Given the description of an element on the screen output the (x, y) to click on. 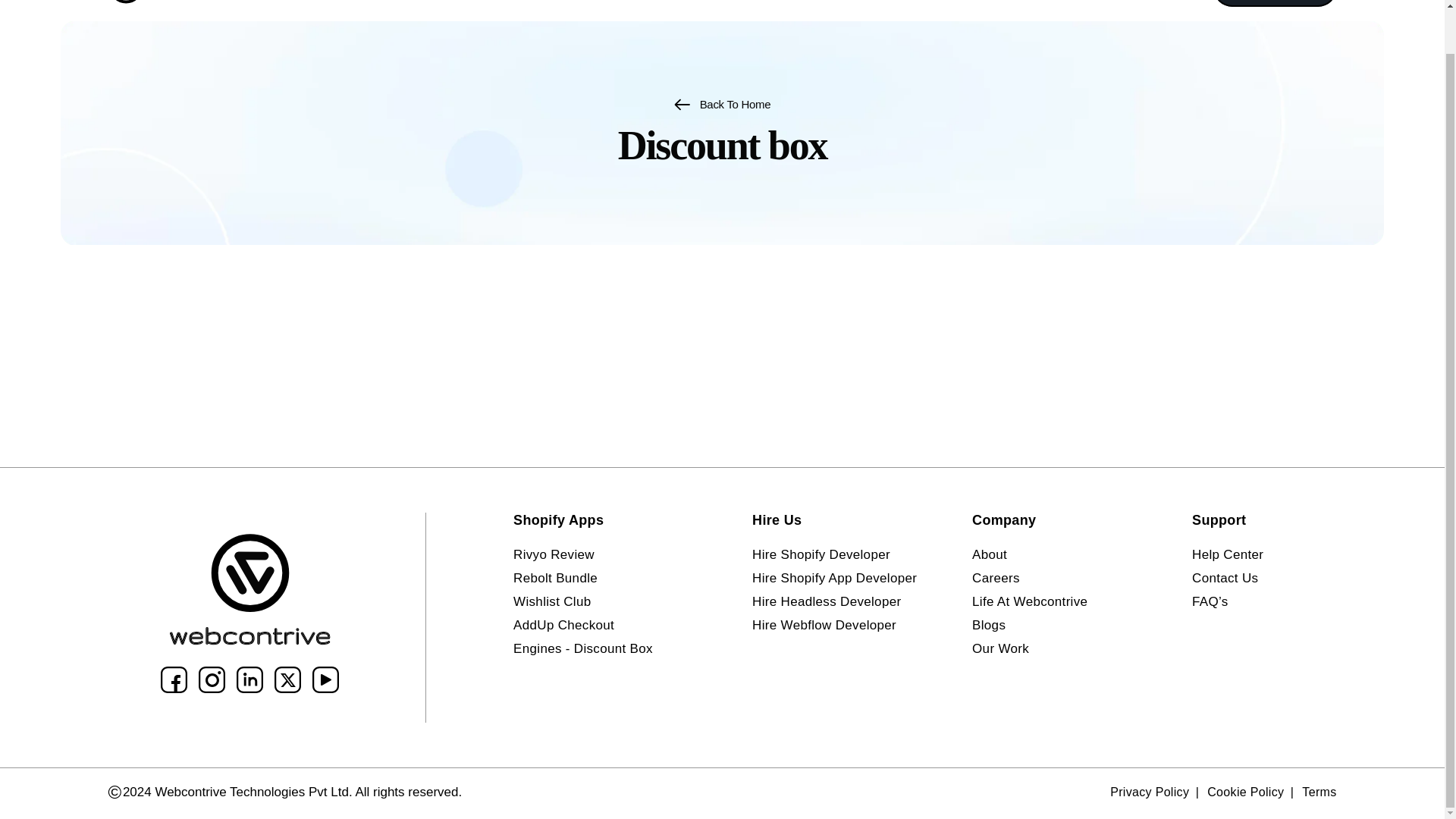
Shopify Plus (693, 10)
Rivyo Review (553, 554)
About (887, 10)
Rebolt Bundle (554, 577)
Shopify Apps (799, 10)
Get In Touch (1274, 3)
Capabilities (590, 10)
Blog (951, 10)
by Webcontrive (130, 742)
Back To Home (721, 104)
